Given the description of an element on the screen output the (x, y) to click on. 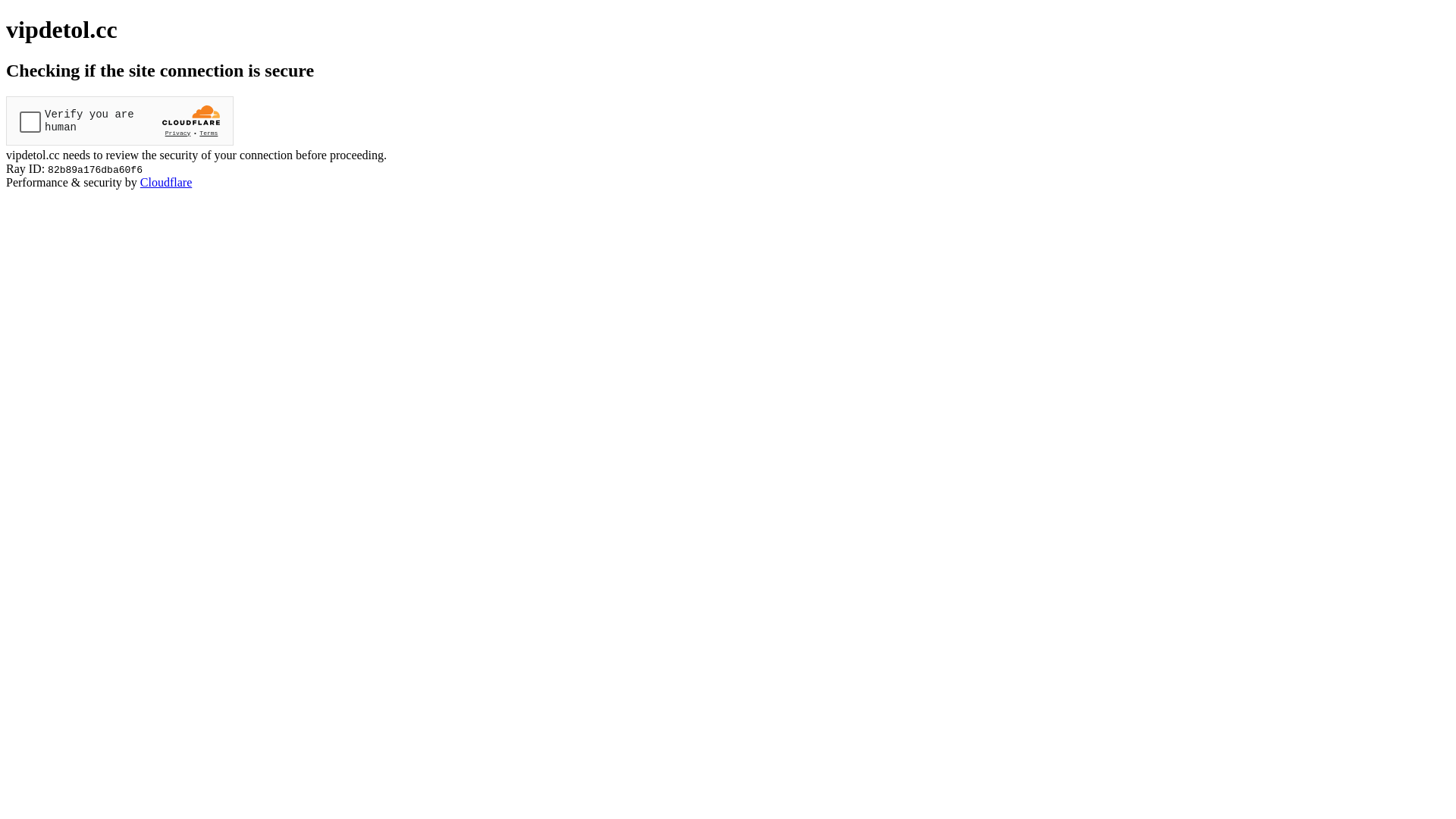
Cloudflare Element type: text (165, 181)
Widget containing a Cloudflare security challenge Element type: hover (119, 120)
